Given the description of an element on the screen output the (x, y) to click on. 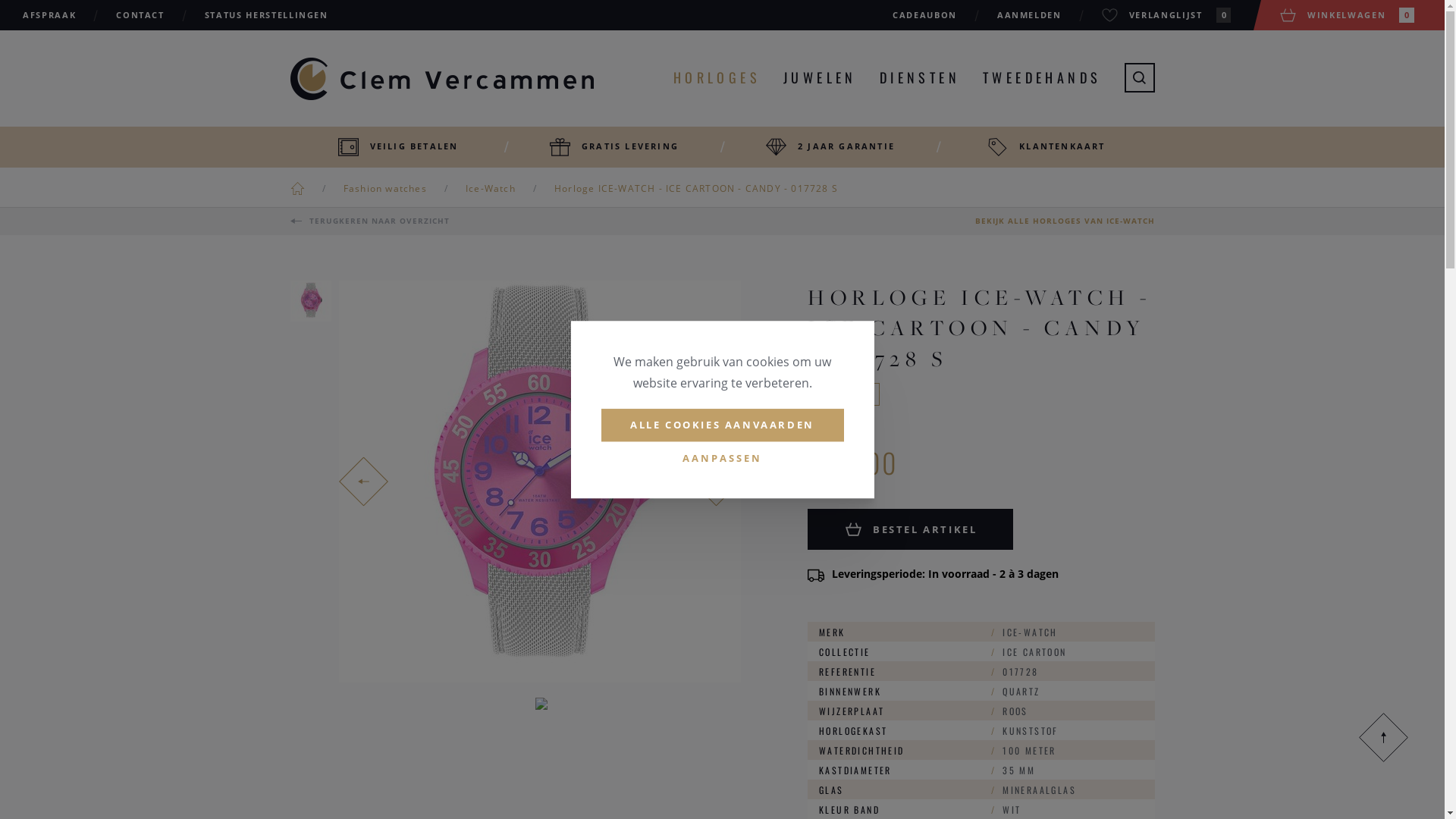
WINKELWAGEN0 Element type: text (1346, 15)
GRATIS LEVERING Element type: text (613, 146)
KLANTENKAART Element type: text (1046, 146)
VEILIG BETALEN Element type: text (398, 146)
CADEAUBON Element type: text (924, 15)
VERLANGLIJST0 Element type: text (1166, 15)
BESTEL ARTIKEL Element type: text (910, 528)
Clem Vercammen Element type: hover (442, 78)
Ice-Watch Element type: text (490, 188)
STATUS HERSTELLINGEN Element type: text (266, 15)
ALLE COOKIES AANVAARDEN Element type: text (721, 424)
TWEEDEHANDS Element type: text (1041, 77)
Fashion watches Element type: text (384, 188)
2 JAAR GARANTIE Element type: text (830, 146)
Horloge ICE-WATCH - ICE CARTOON - CANDY - 017728 S Element type: text (695, 188)
CONTACT Element type: text (139, 15)
AANPASSEN Element type: text (721, 457)
TERUGKEREN NAAR OVERZICHT Element type: text (368, 220)
AANMELDEN Element type: text (1029, 15)
AFSPRAAK Element type: text (49, 15)
DIENSTEN Element type: text (919, 77)
HORLOGES Element type: text (716, 77)
BEKIJK ALLE HORLOGES VAN ICE-WATCH Element type: text (1064, 220)
JUWELEN Element type: text (819, 77)
Home Element type: hover (296, 188)
Scroll naar boven Element type: hover (1383, 737)
